Given the description of an element on the screen output the (x, y) to click on. 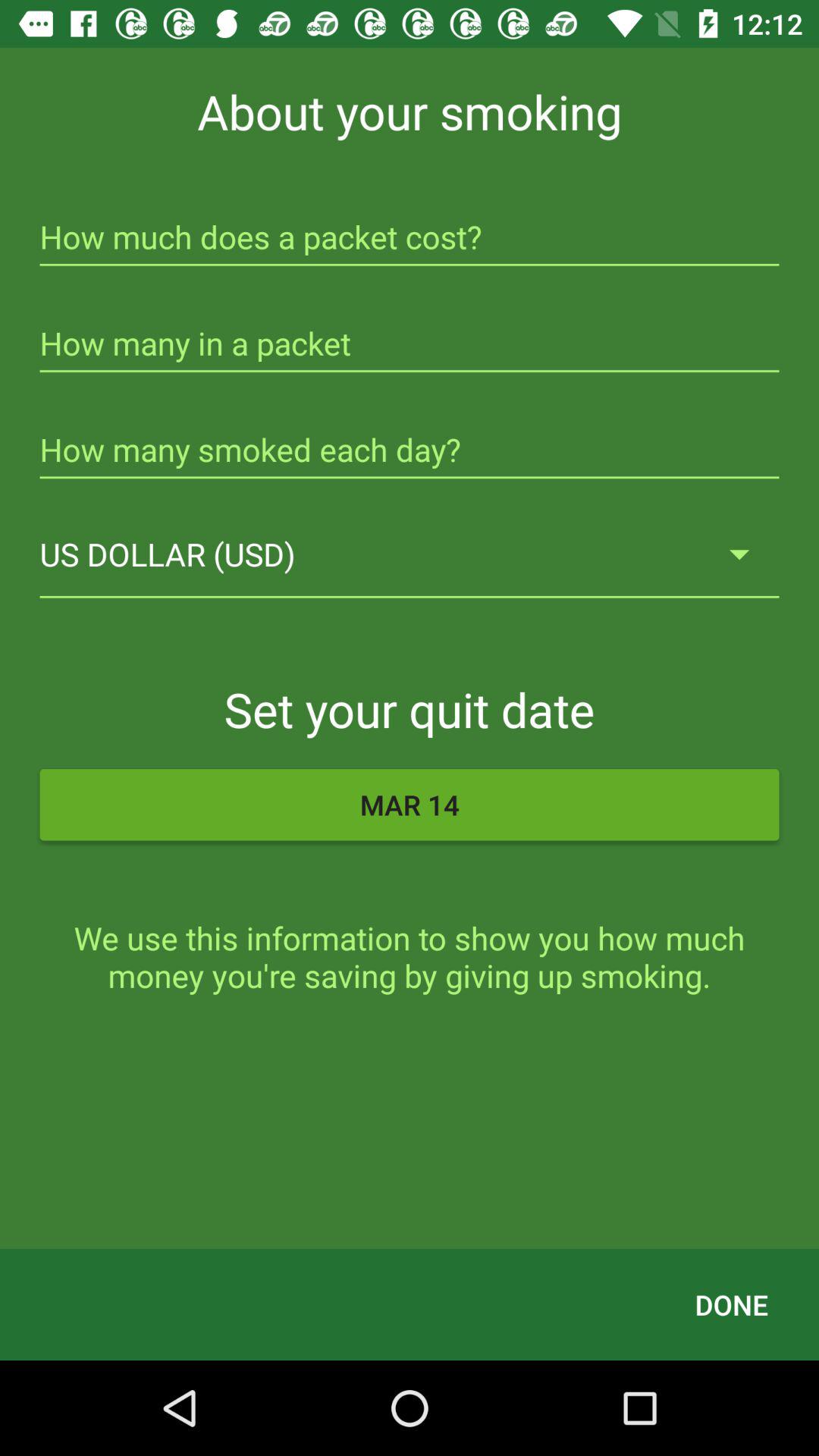
launch the icon above us dollar (usd) icon (409, 451)
